Given the description of an element on the screen output the (x, y) to click on. 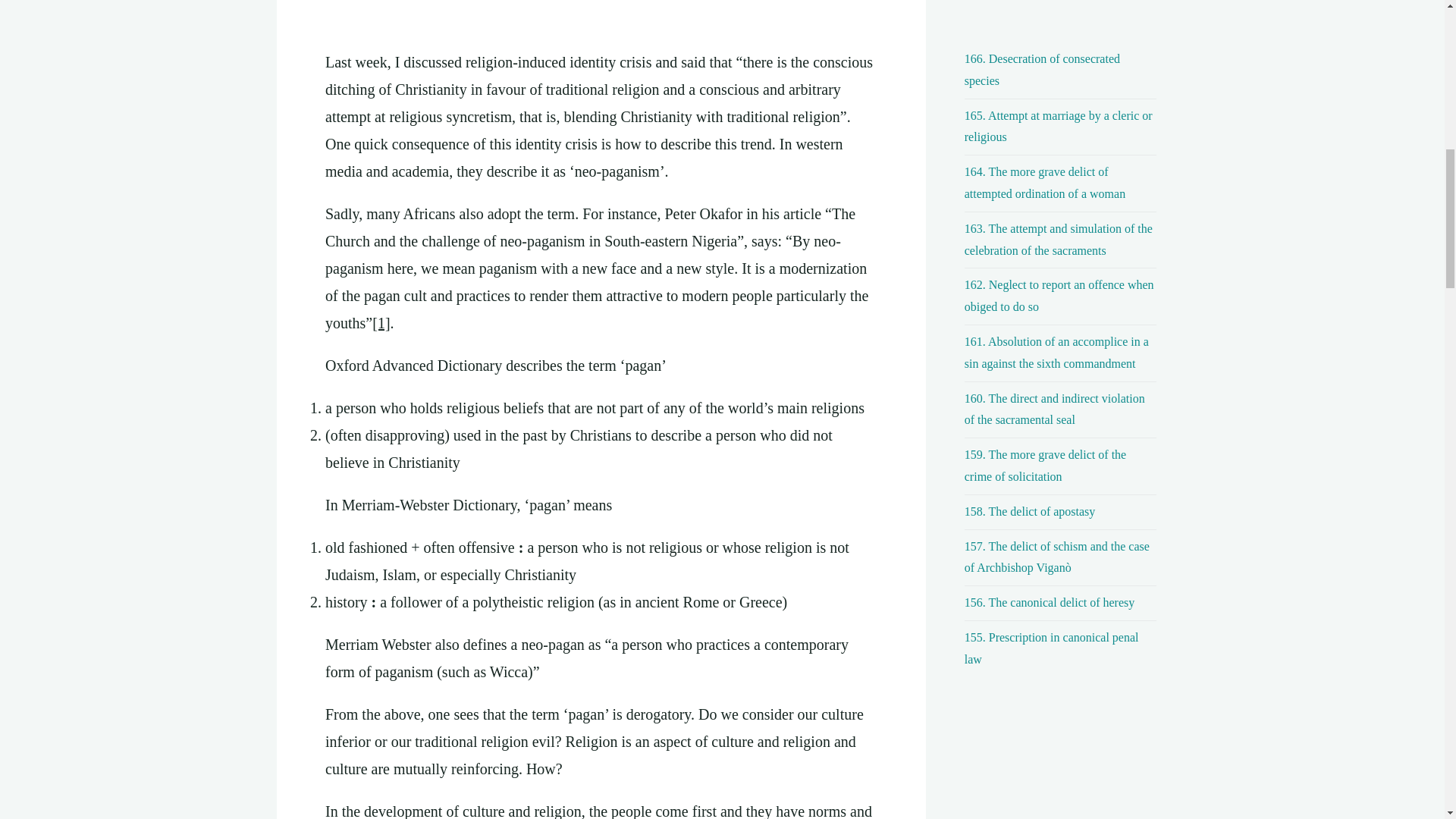
159. The more grave delict of the crime of solicitation (1044, 465)
166. Desecration of consecrated species (1041, 69)
156. The canonical delict of heresy (1049, 602)
165. Attempt at marriage by a cleric or religious (1058, 126)
158. The delict of apostasy (1029, 511)
162. Neglect to report an offence when obiged to do so (1058, 295)
